Given the description of an element on the screen output the (x, y) to click on. 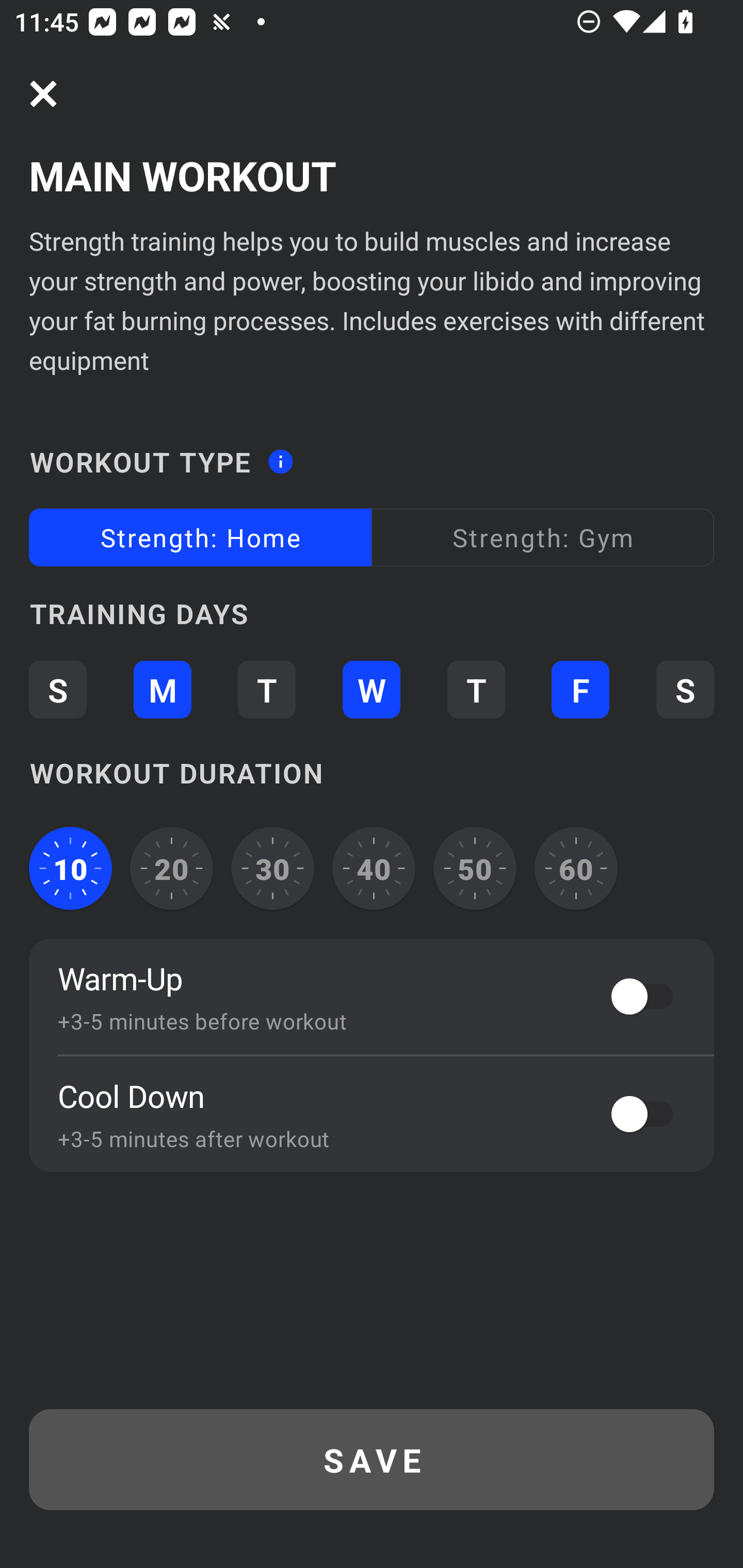
Navigation icon (43, 93)
Workout type information button (280, 455)
Strength: Home (199, 536)
Strength: Gym (542, 536)
S (57, 689)
T (266, 689)
T (476, 689)
S (684, 689)
10 (70, 868)
20 (171, 868)
30 (272, 868)
40 (373, 868)
50 (474, 868)
60 (575, 868)
SAVE (371, 1459)
